Given the description of an element on the screen output the (x, y) to click on. 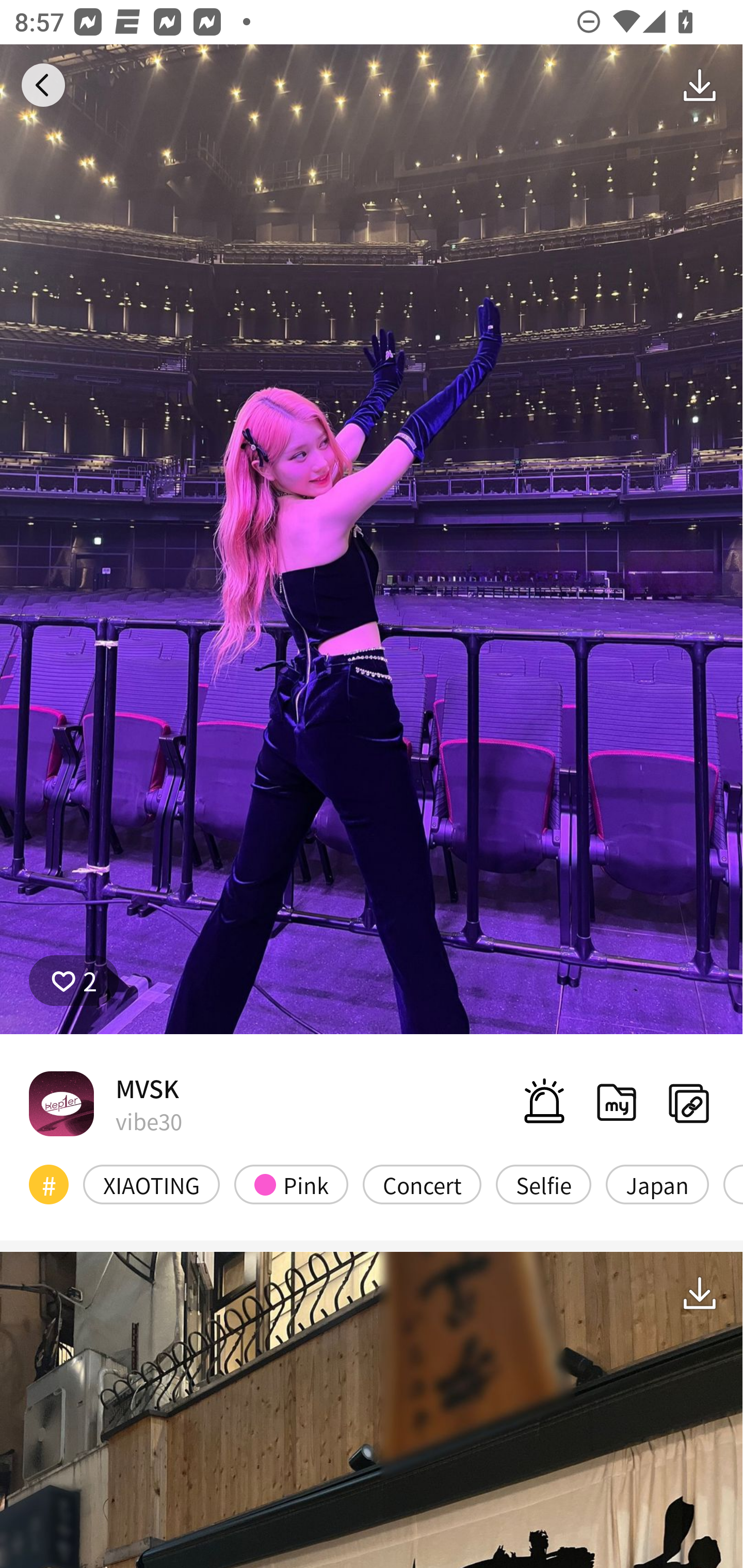
2 (73, 980)
MVSK vibe30 (105, 1102)
XIAOTING (151, 1184)
Pink (291, 1184)
Concert (421, 1184)
Selfie (543, 1184)
Japan (656, 1184)
